Given the description of an element on the screen output the (x, y) to click on. 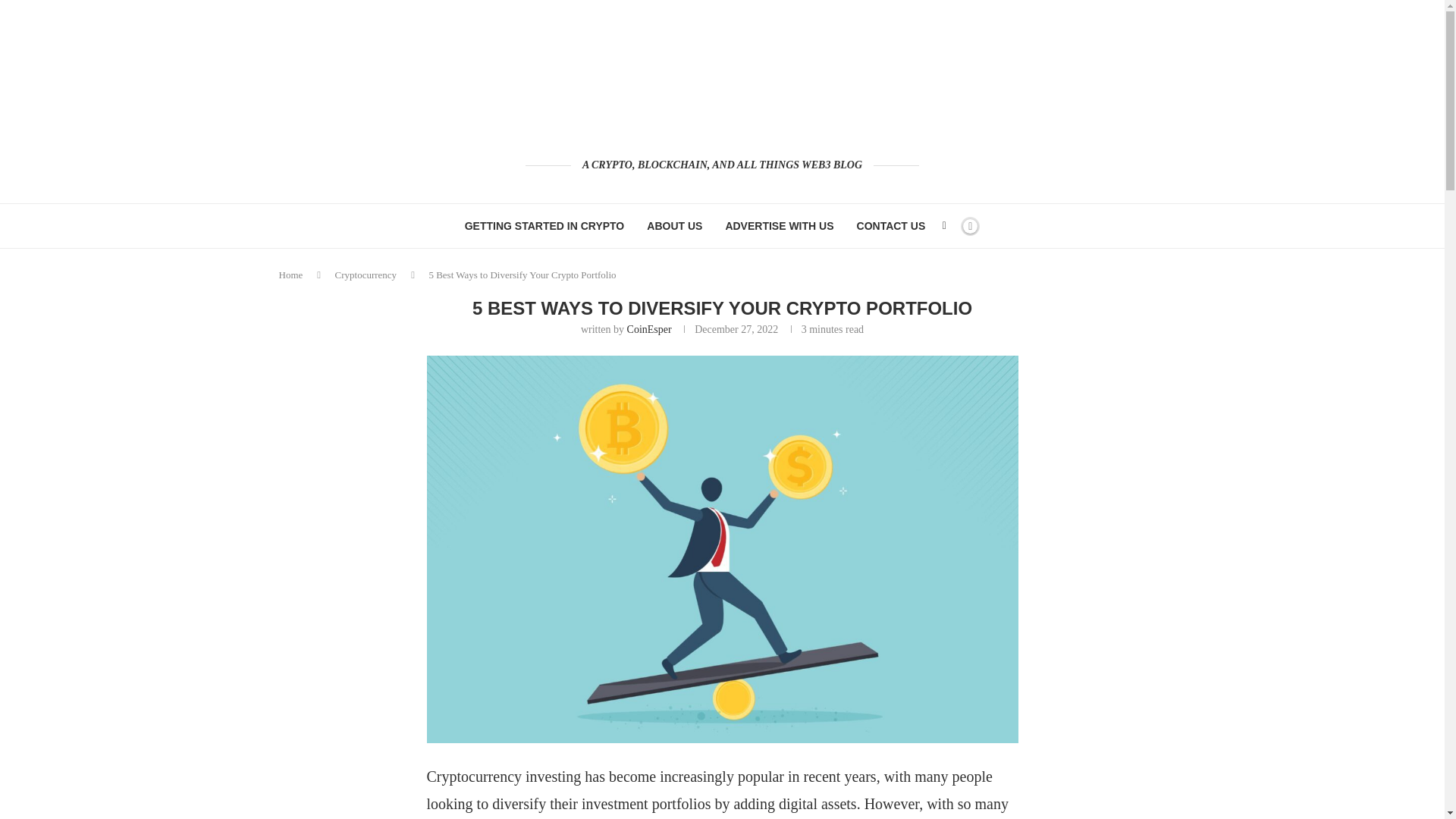
GETTING STARTED IN CRYPTO (544, 225)
ABOUT US (673, 225)
Cryptocurrency (365, 274)
Home (290, 274)
CoinEsper (649, 328)
CONTACT US (891, 225)
ADVERTISE WITH US (778, 225)
